Given the description of an element on the screen output the (x, y) to click on. 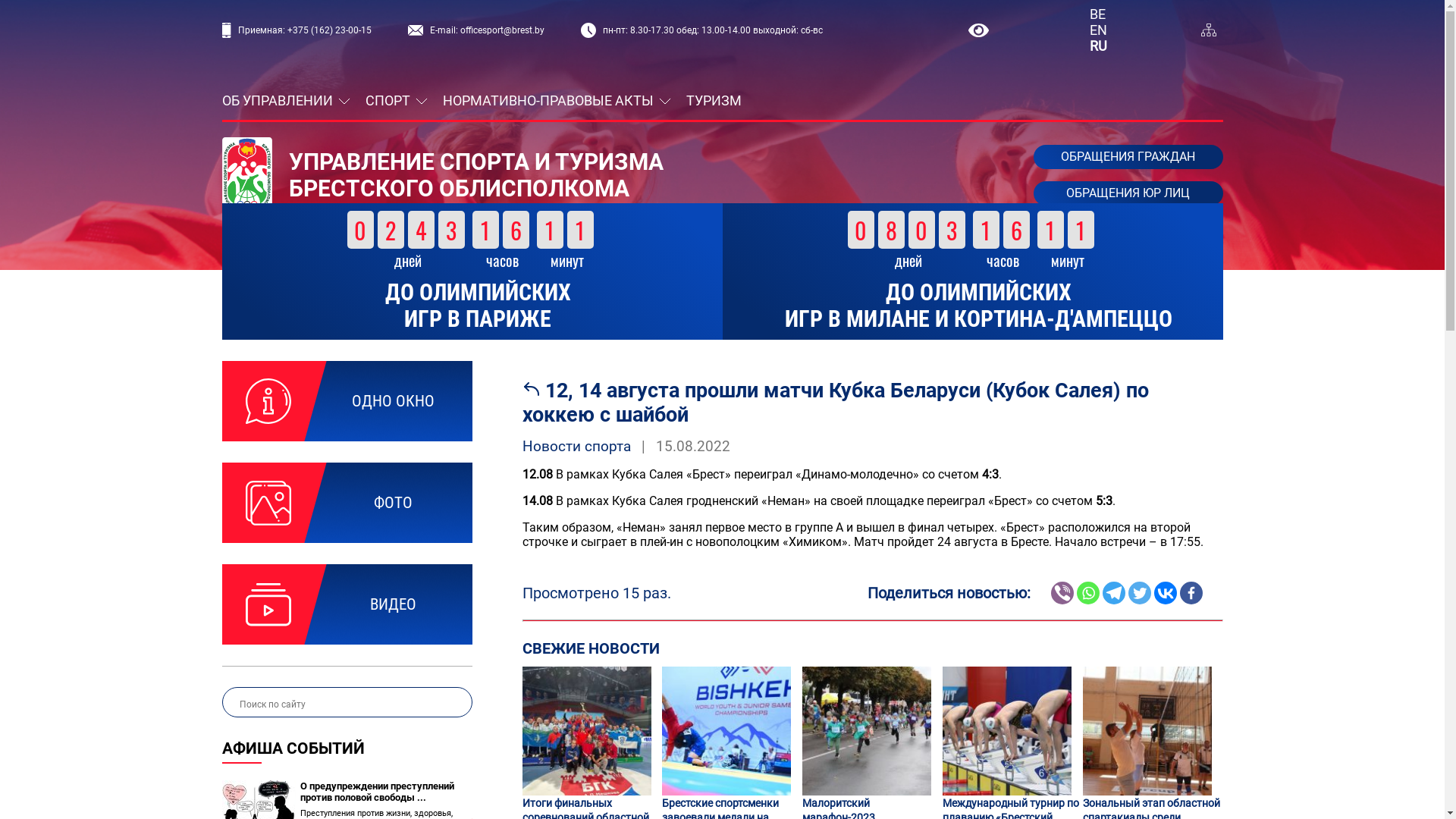
Vkontakte Element type: hover (1165, 592)
Viber Element type: hover (1062, 592)
Whatsapp Element type: hover (1087, 592)
E-mail: officesport@brest.by Element type: text (475, 29)
BE Element type: text (1098, 13)
EN Element type: text (1098, 29)
Telegram Element type: hover (1113, 592)
Facebook Element type: hover (1190, 592)
RU Element type: text (1098, 45)
Twitter Element type: hover (1139, 592)
